Given the description of an element on the screen output the (x, y) to click on. 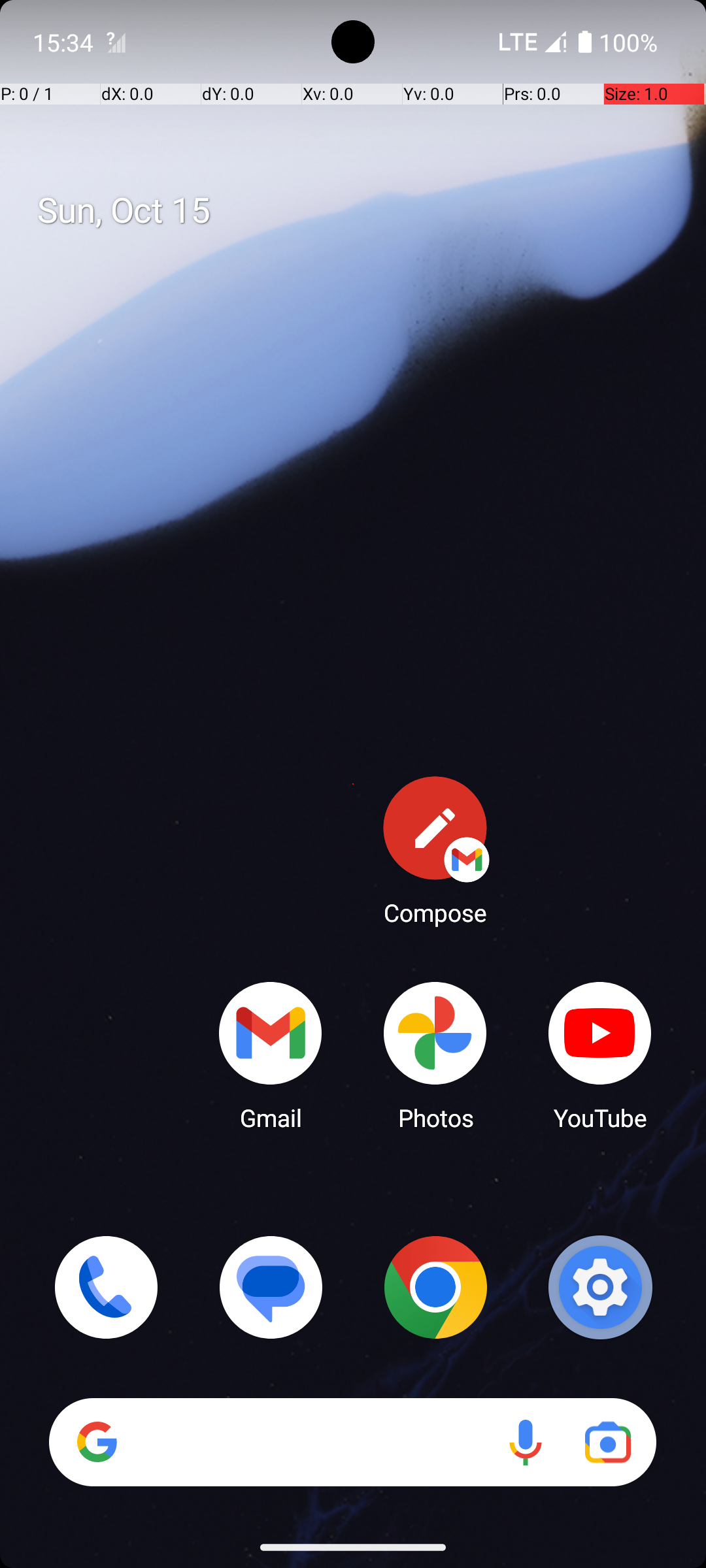
Compose Element type: android.widget.TextView (435, 849)
Android System notification: Sign in to network Element type: android.widget.ImageView (115, 41)
